Given the description of an element on the screen output the (x, y) to click on. 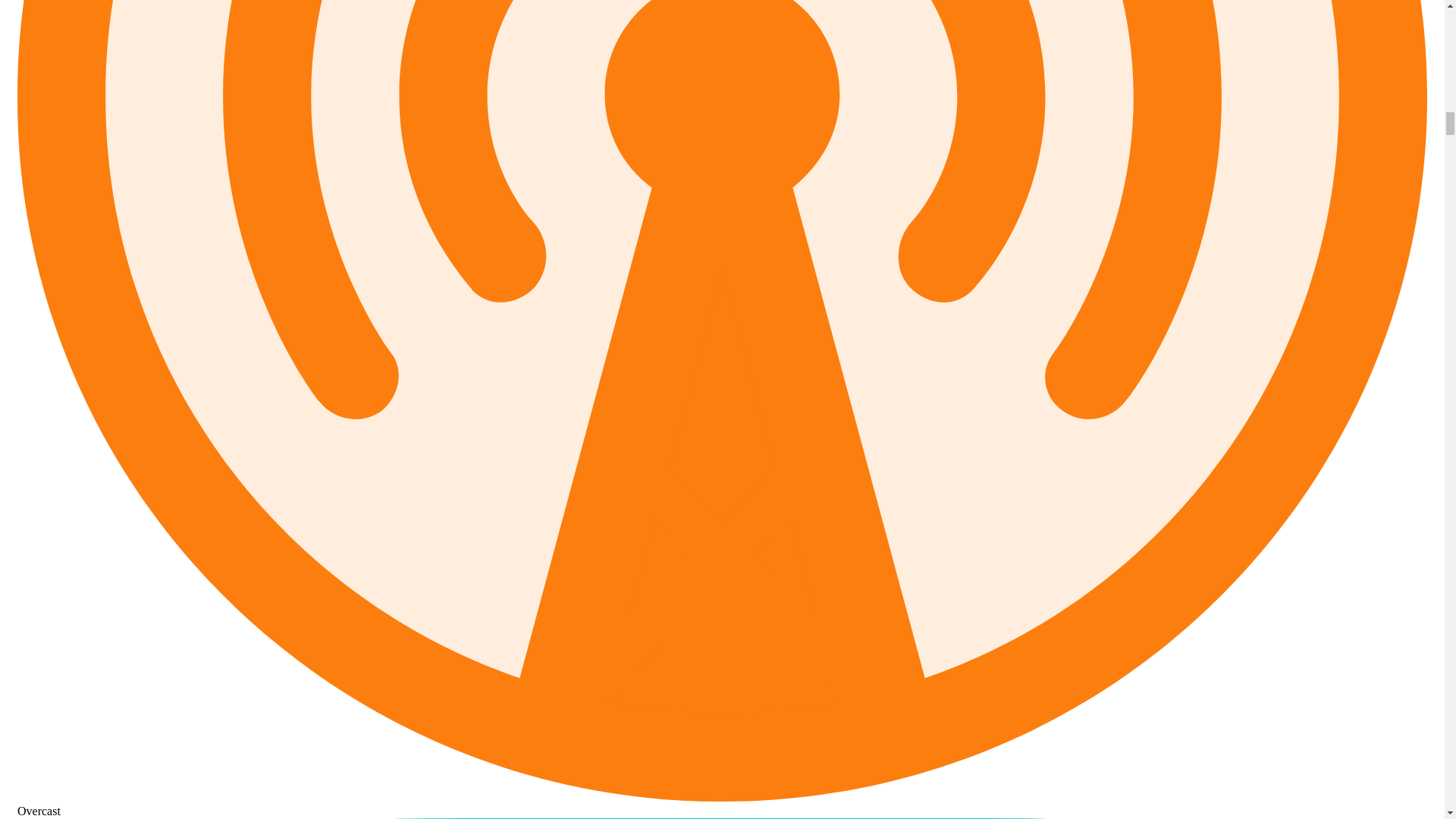
Overcast (721, 804)
